Given the description of an element on the screen output the (x, y) to click on. 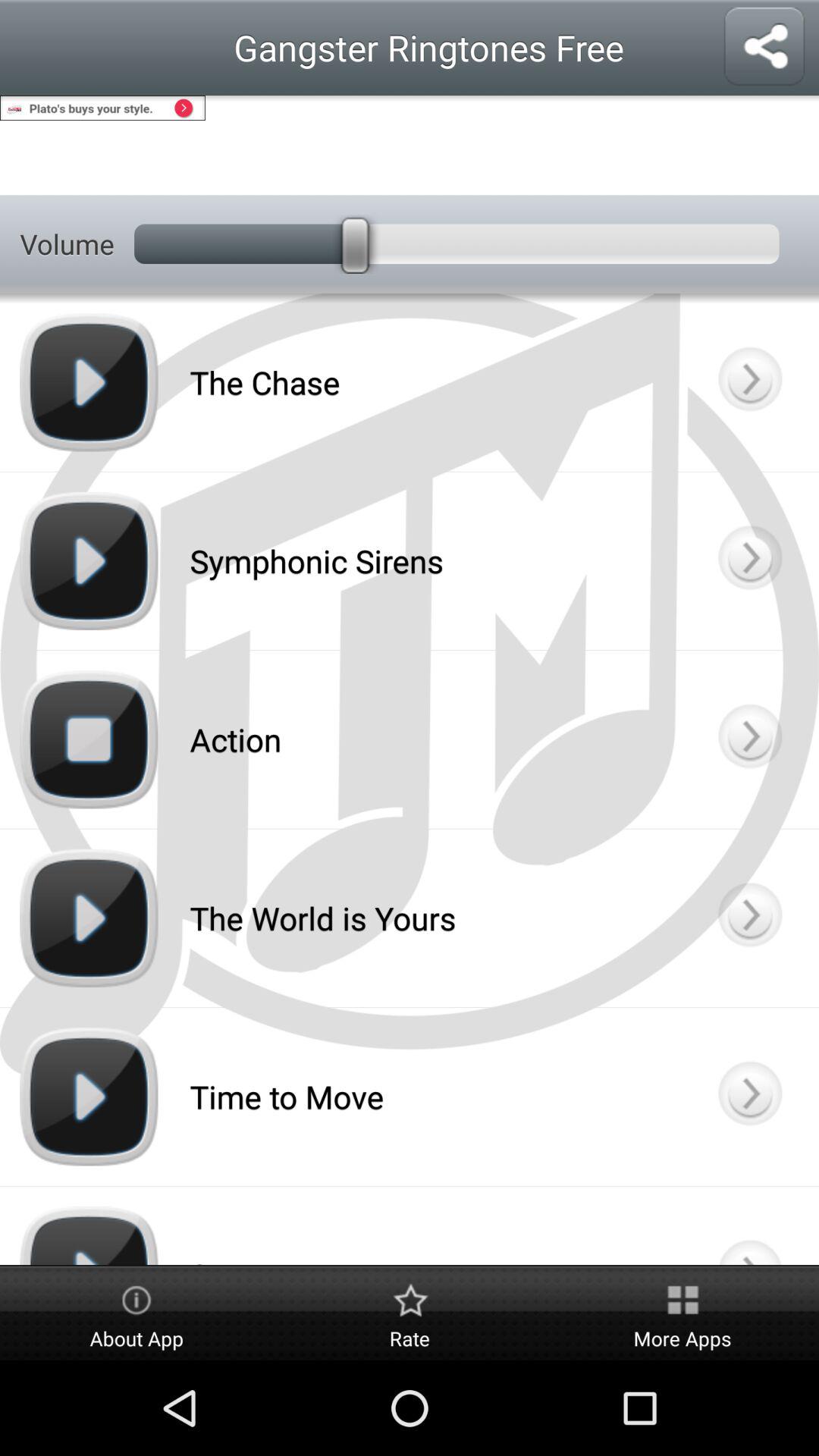
logo (749, 1225)
